Given the description of an element on the screen output the (x, y) to click on. 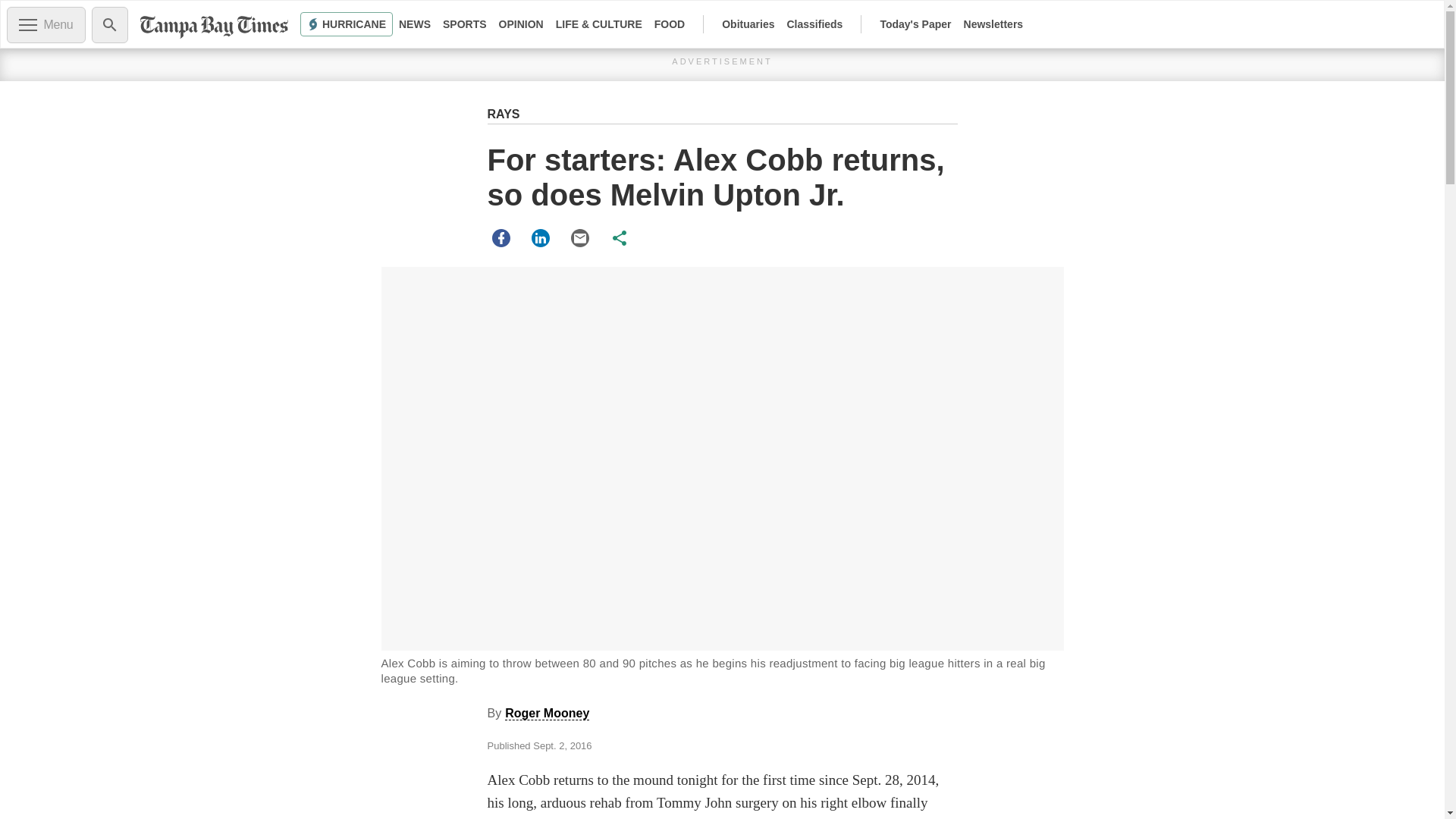
Menu (46, 24)
2016-09-02T21:34:00Z (561, 745)
